Given the description of an element on the screen output the (x, y) to click on. 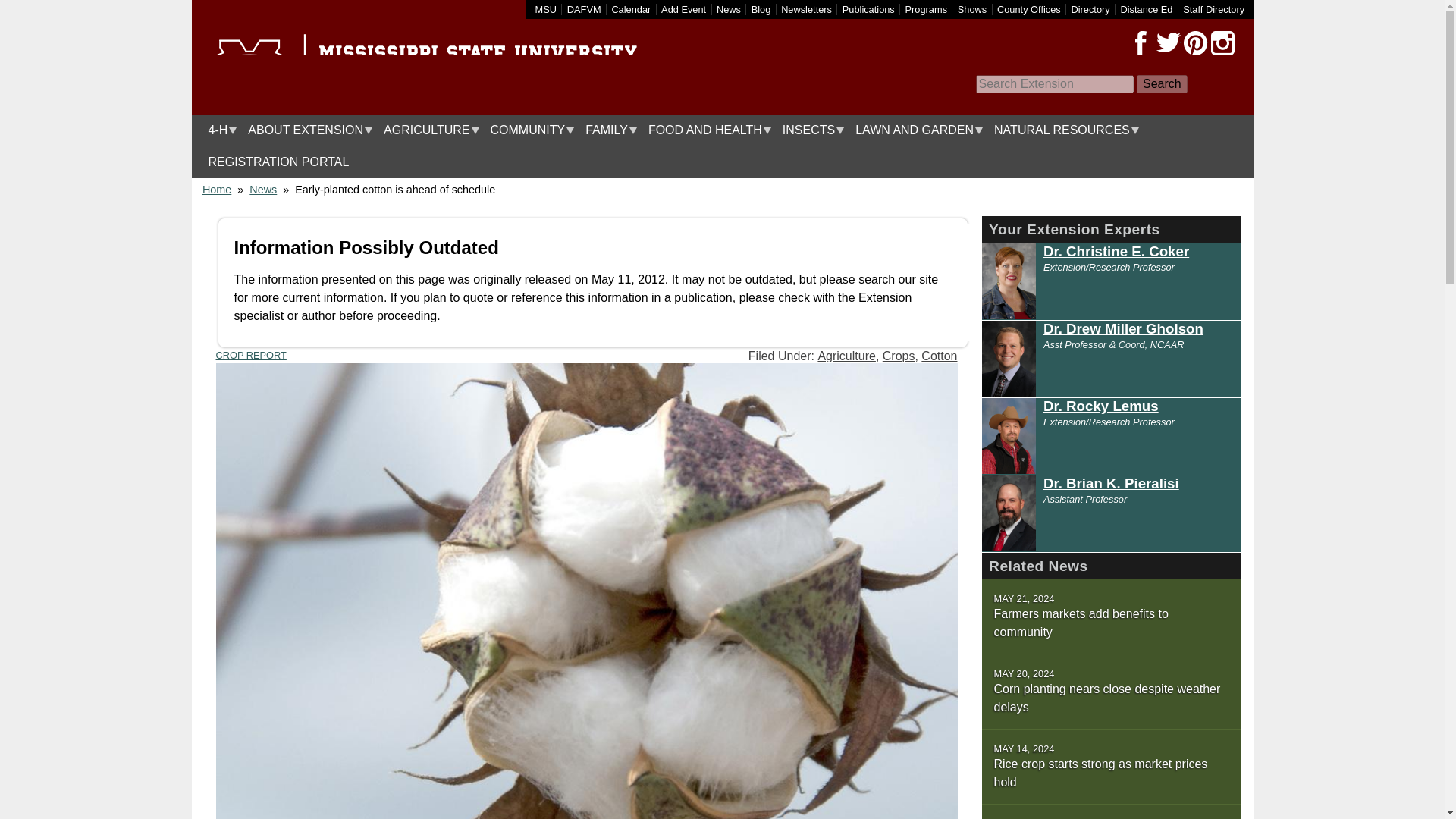
Programs (926, 9)
Blog (761, 9)
Add Event (683, 9)
Shows (972, 9)
DAFVM (584, 9)
Pinterest (1194, 43)
News (728, 9)
